Given the description of an element on the screen output the (x, y) to click on. 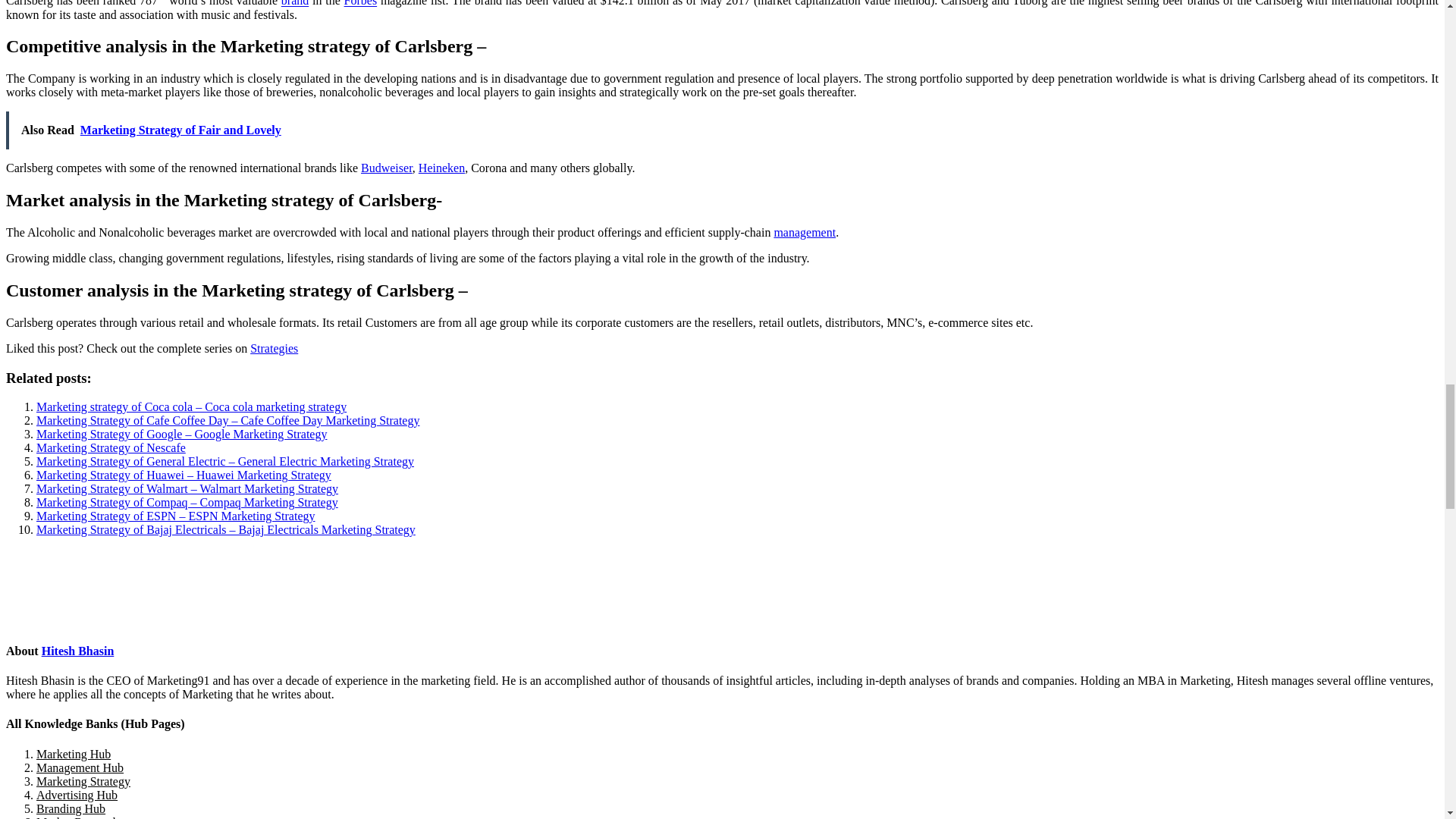
View all posts by Hitesh Bhasin (78, 650)
Marketing Strategy of Nescafe (111, 447)
